Given the description of an element on the screen output the (x, y) to click on. 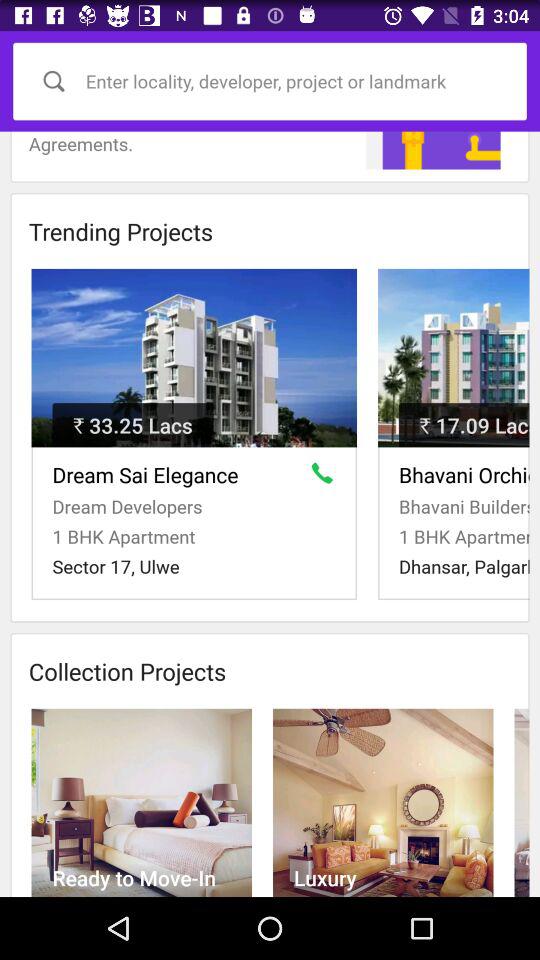
go to call (326, 477)
